Given the description of an element on the screen output the (x, y) to click on. 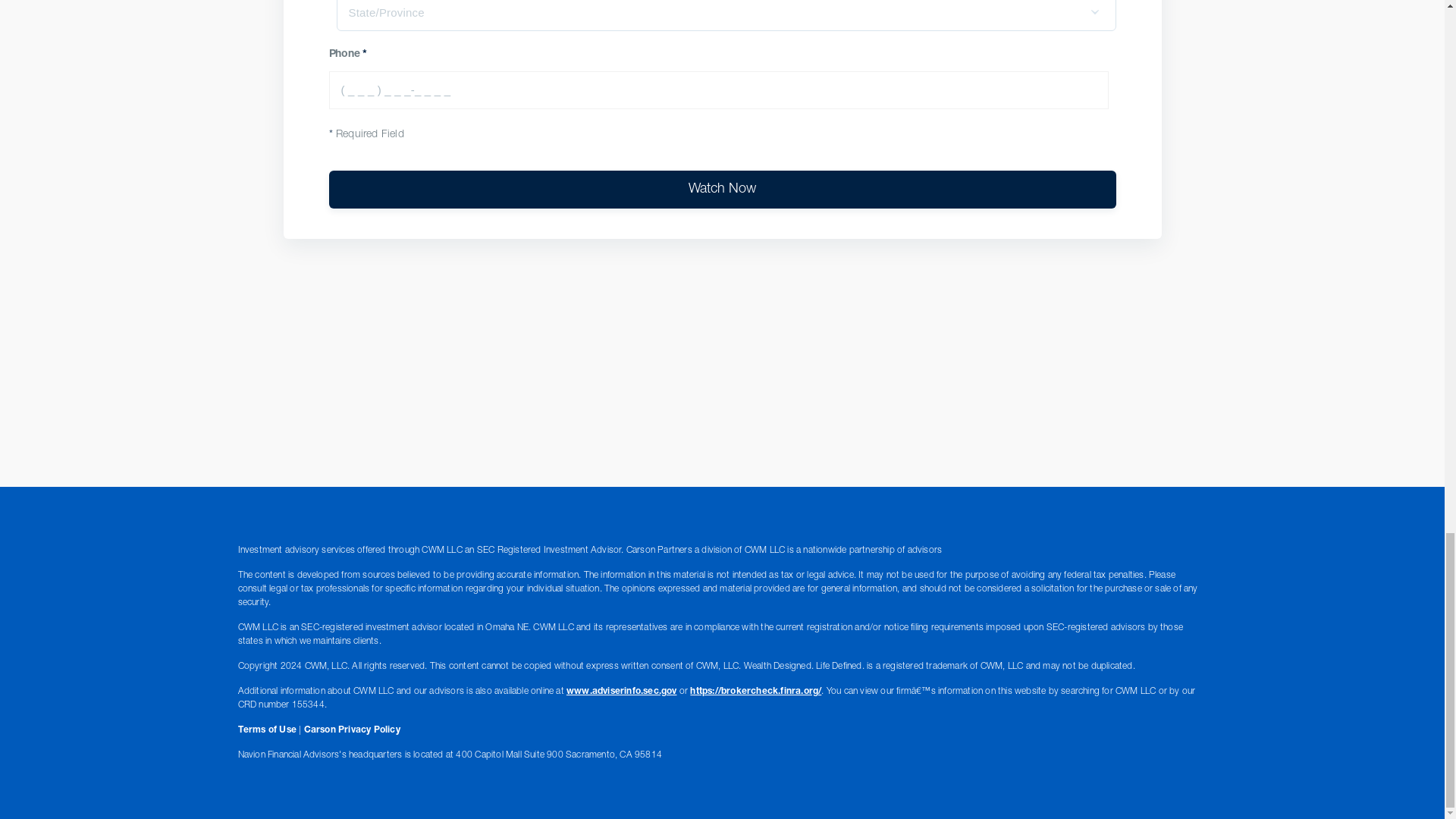
Carson Privacy Policy (352, 729)
Terms of Use (267, 729)
www.adviserinfo.sec.gov (621, 691)
Watch Now (722, 189)
